Given the description of an element on the screen output the (x, y) to click on. 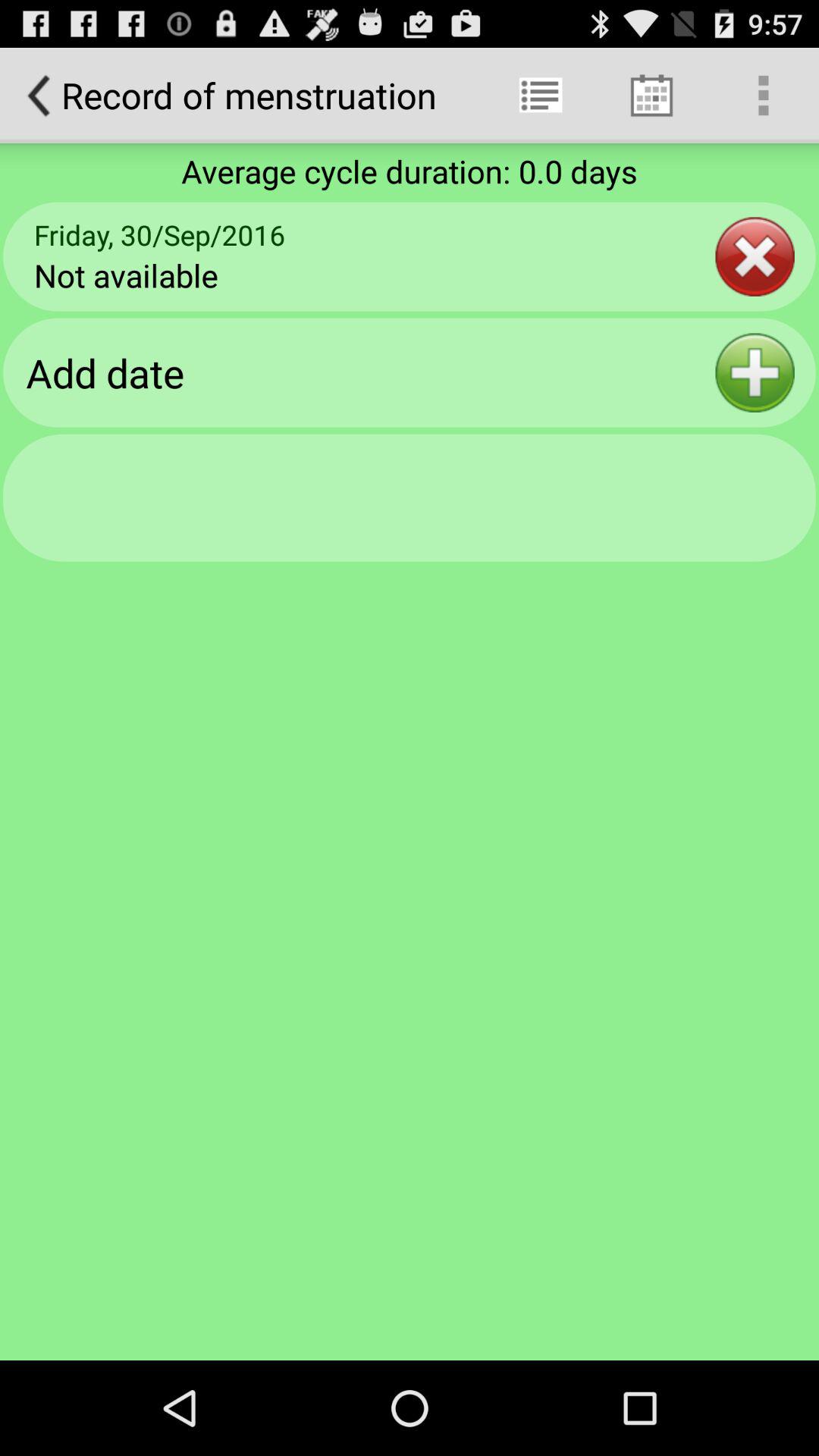
select item next to add date icon (754, 372)
